Given the description of an element on the screen output the (x, y) to click on. 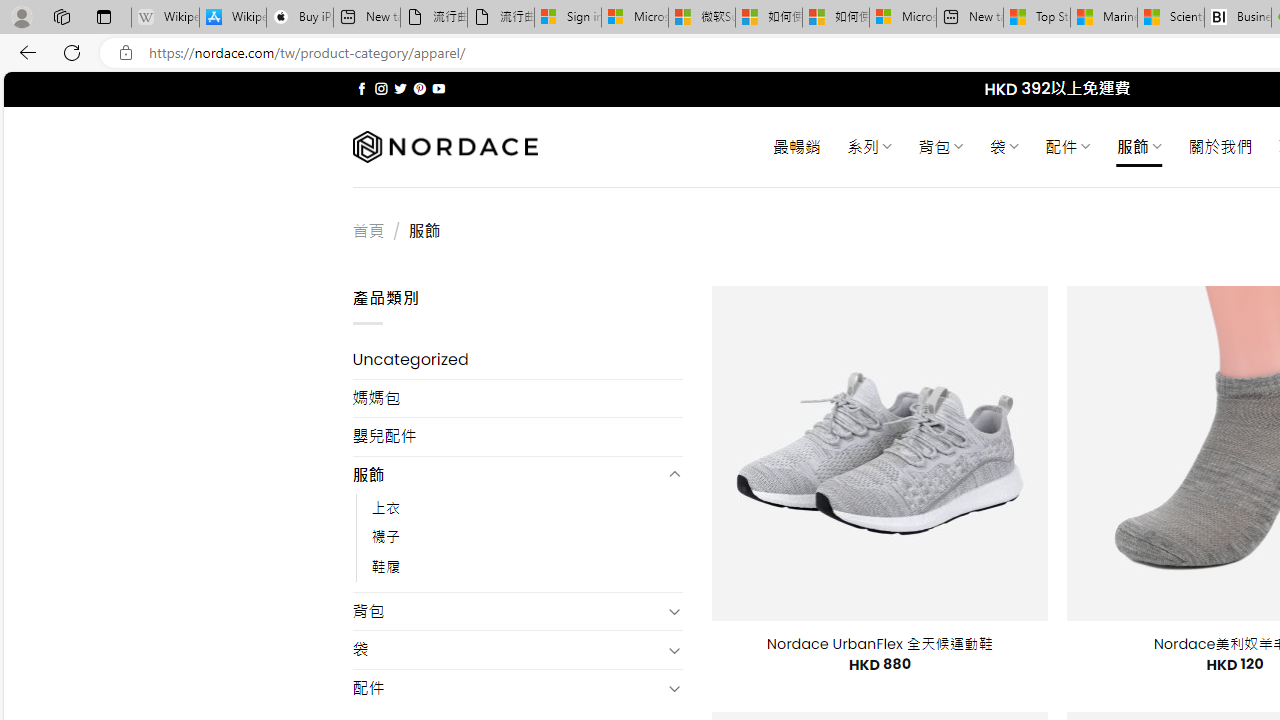
Follow on Instagram (381, 88)
Follow on YouTube (438, 88)
Uncategorized (517, 359)
Uncategorized (517, 359)
